Given the description of an element on the screen output the (x, y) to click on. 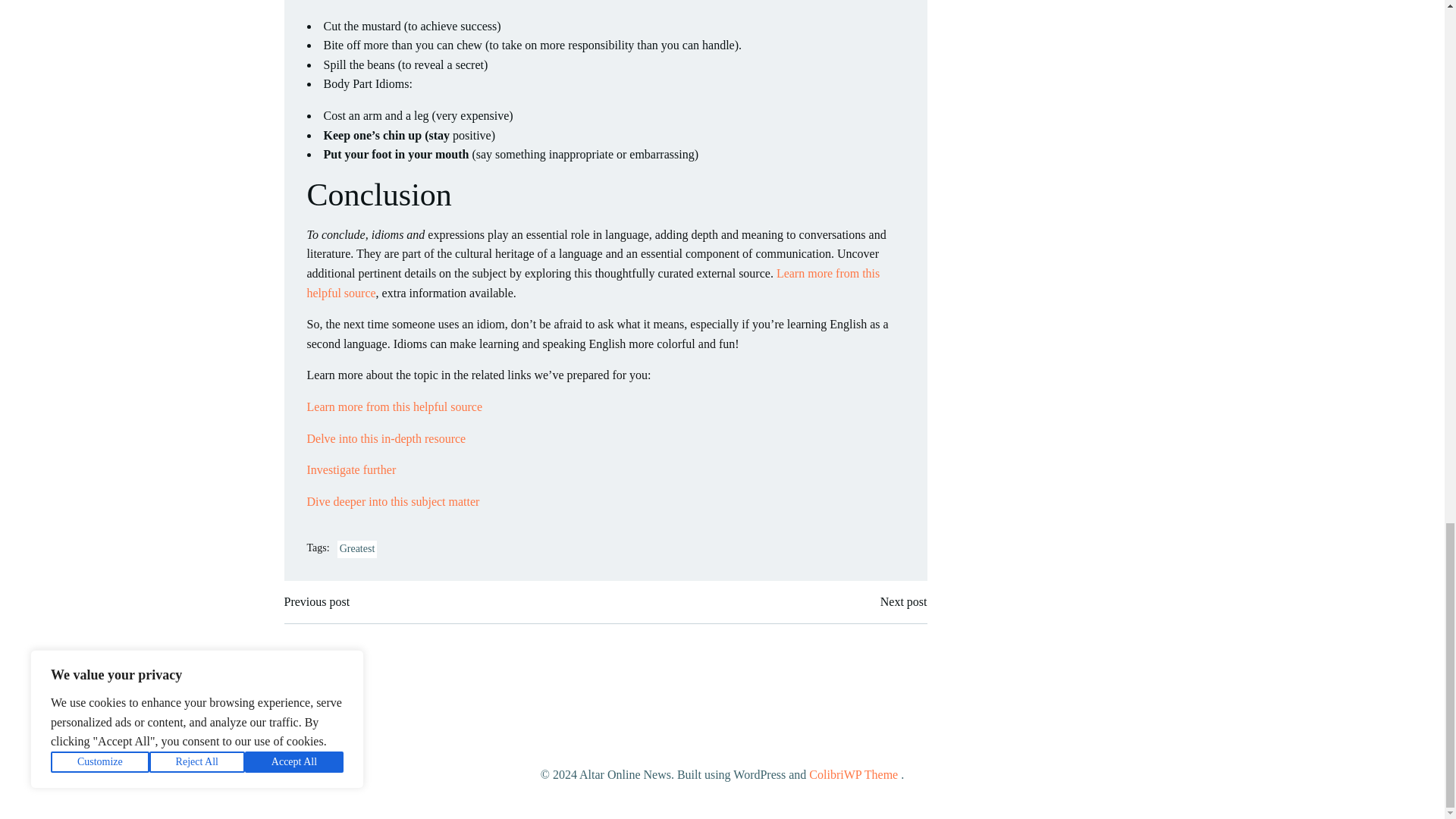
Learn more from this helpful source (393, 406)
Tag: Greatest (357, 548)
Greatest (357, 548)
Next post (903, 601)
Delve into this in-depth resource (385, 438)
Previous post (316, 601)
Dive deeper into this subject matter (392, 501)
Learn more from this helpful source (592, 282)
Investigate further (350, 469)
